Given the description of an element on the screen output the (x, y) to click on. 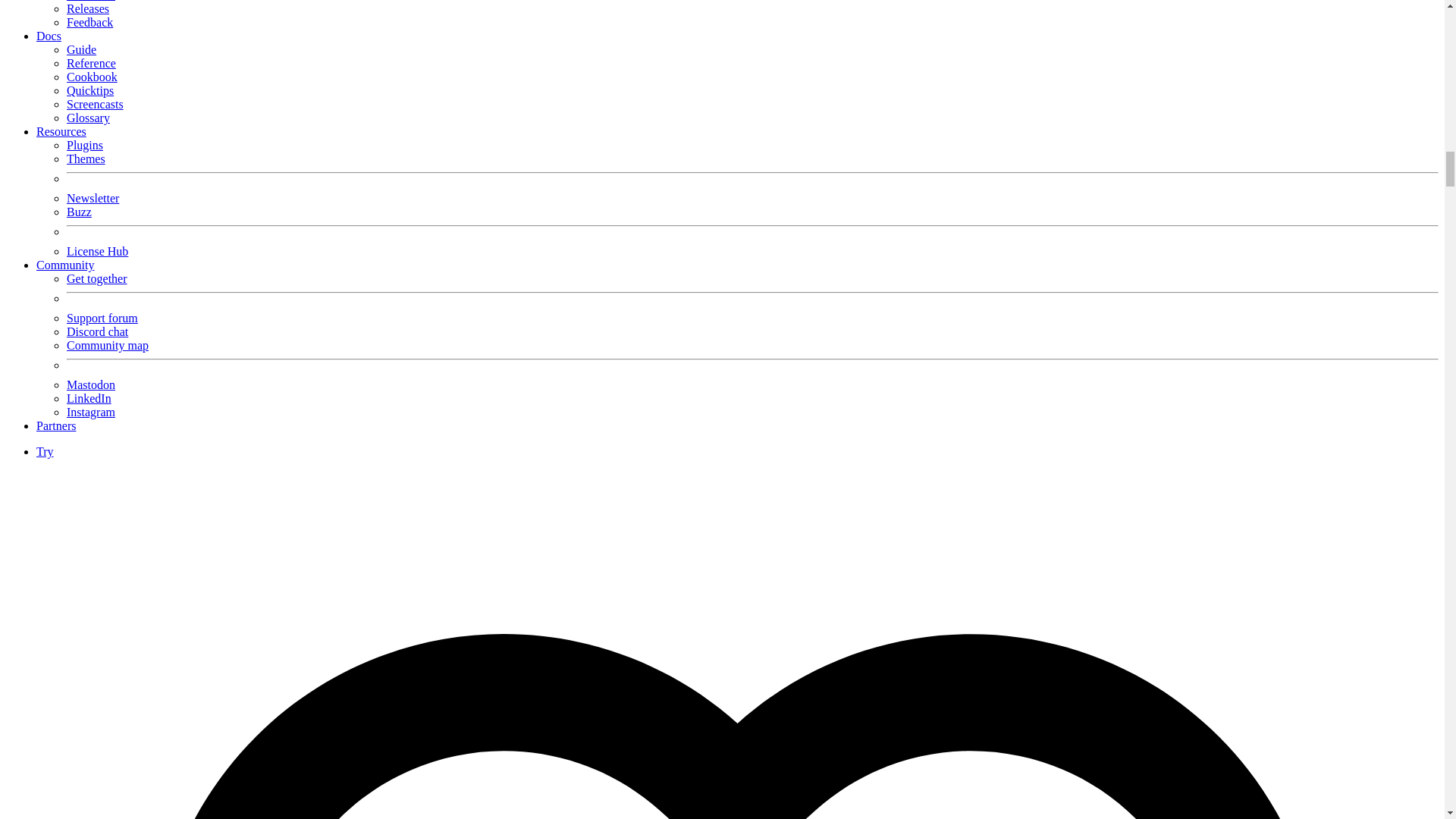
Glossary (88, 117)
Community (65, 264)
Docs (48, 35)
Plugins (84, 144)
Showcase (90, 0)
Partners (55, 425)
Guide (81, 49)
Newsletter (92, 197)
Reference (91, 62)
Mastodon (90, 384)
